Given the description of an element on the screen output the (x, y) to click on. 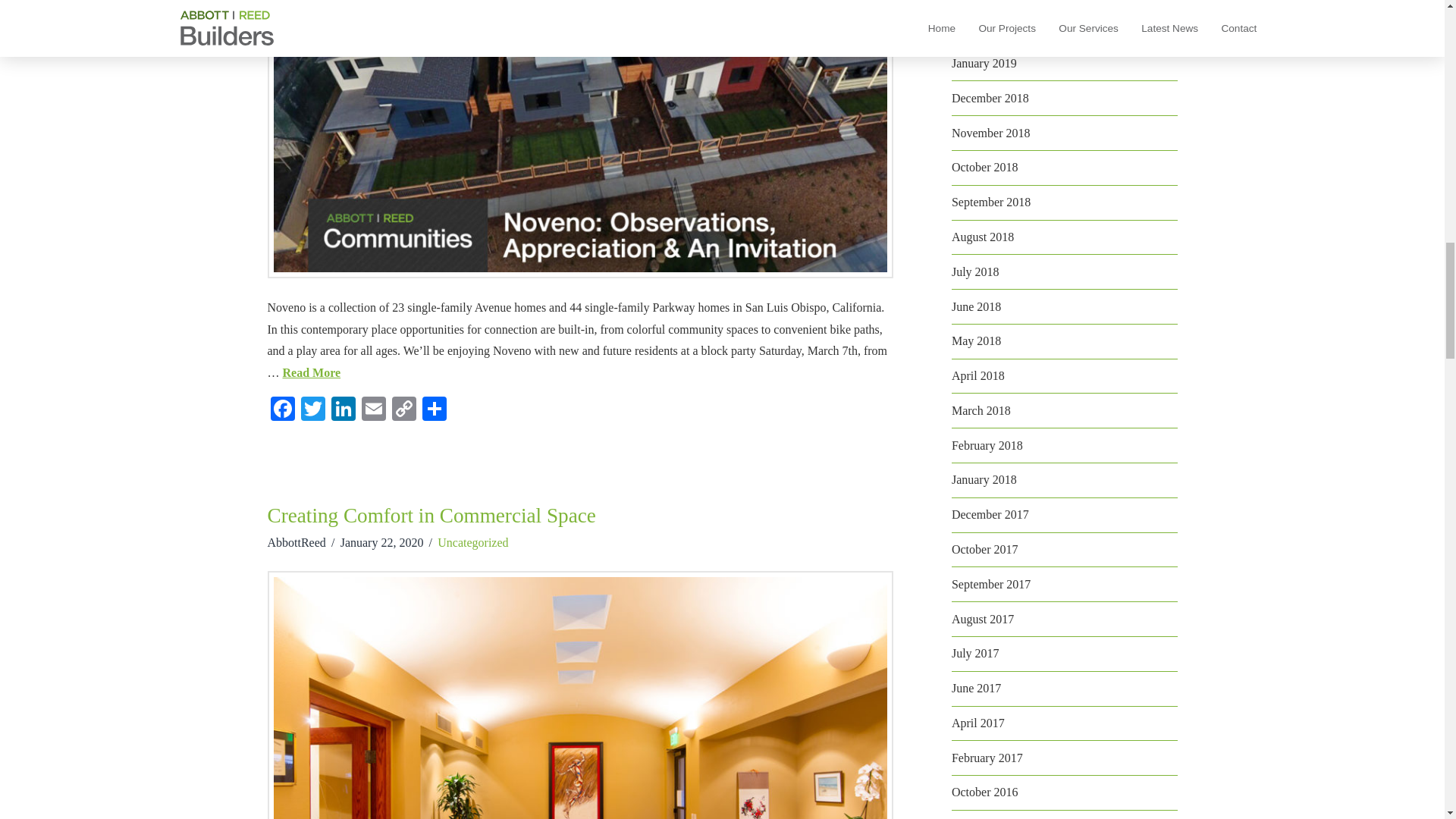
LinkedIn (342, 410)
Copy Link (403, 410)
Twitter (312, 410)
Share (433, 410)
Email (373, 410)
Read More (311, 372)
Creating Comfort in Commercial Space (430, 515)
Uncategorized (473, 542)
Facebook (281, 410)
